Given the description of an element on the screen output the (x, y) to click on. 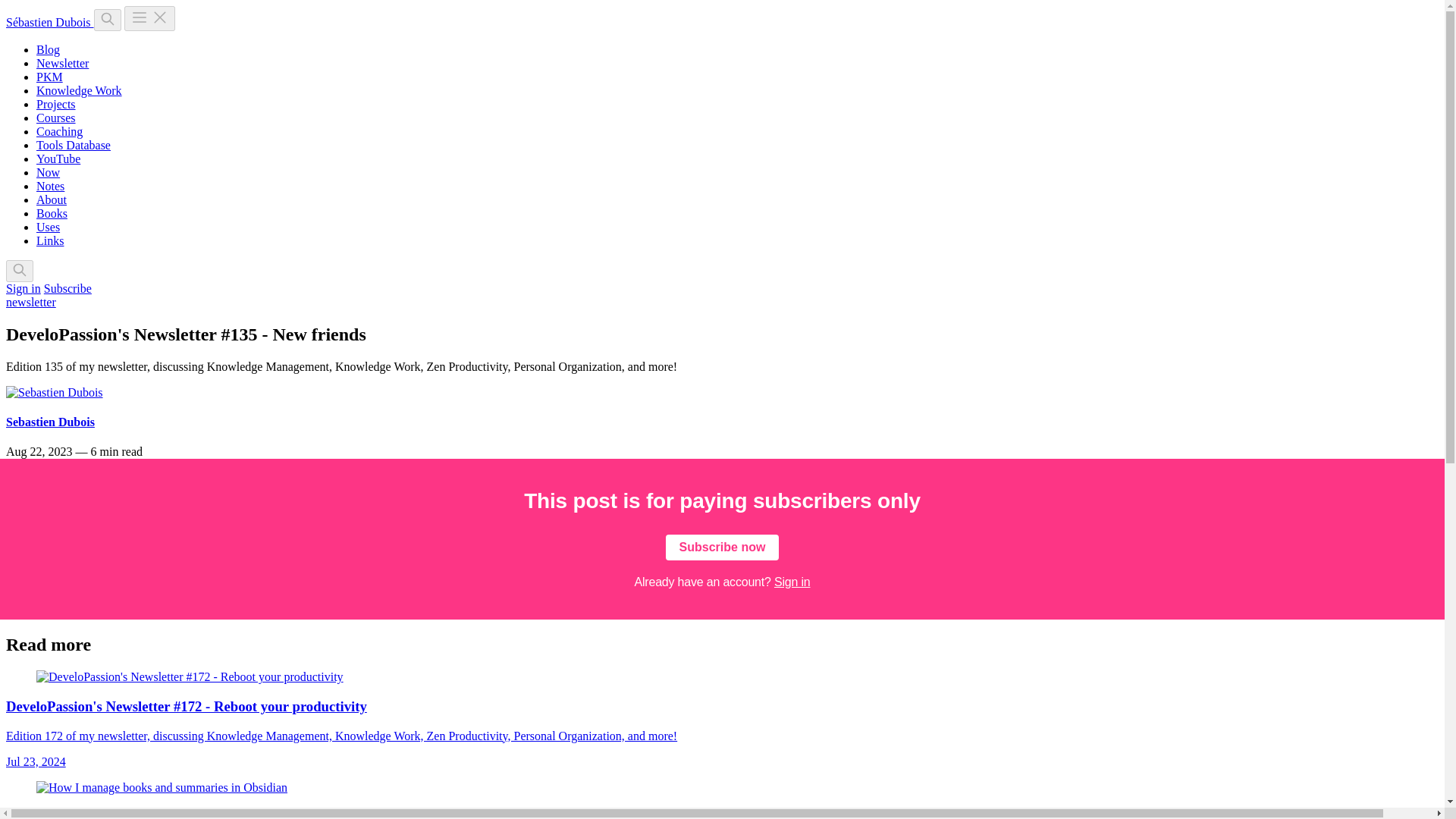
Notes (50, 185)
About (51, 199)
Blog (47, 49)
newsletter (30, 301)
Links (50, 240)
Courses (55, 117)
Sign in (792, 581)
Sebastien Dubois (49, 421)
Subscribe (67, 287)
Tools Database (73, 144)
Newsletter (62, 62)
Now (47, 172)
Books (51, 213)
Uses (47, 226)
